Given the description of an element on the screen output the (x, y) to click on. 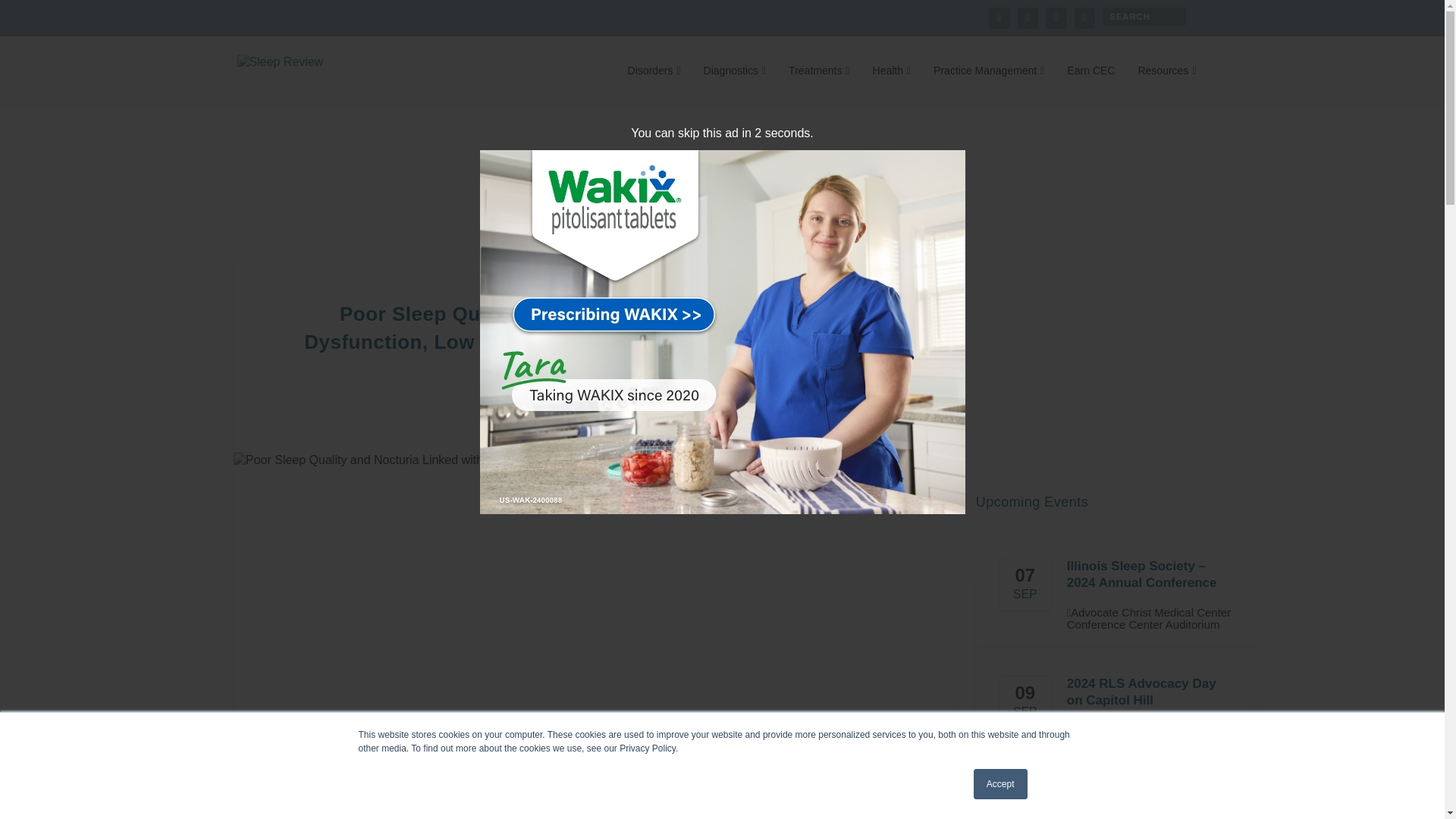
Accept (1000, 784)
Resources (1166, 86)
Rating: 0.00 (680, 398)
Treatments (818, 86)
Diagnostics (735, 86)
Disorders (654, 86)
Earn CEC (1091, 86)
3rd party ad content (721, 174)
Search for: (1144, 16)
